Given the description of an element on the screen output the (x, y) to click on. 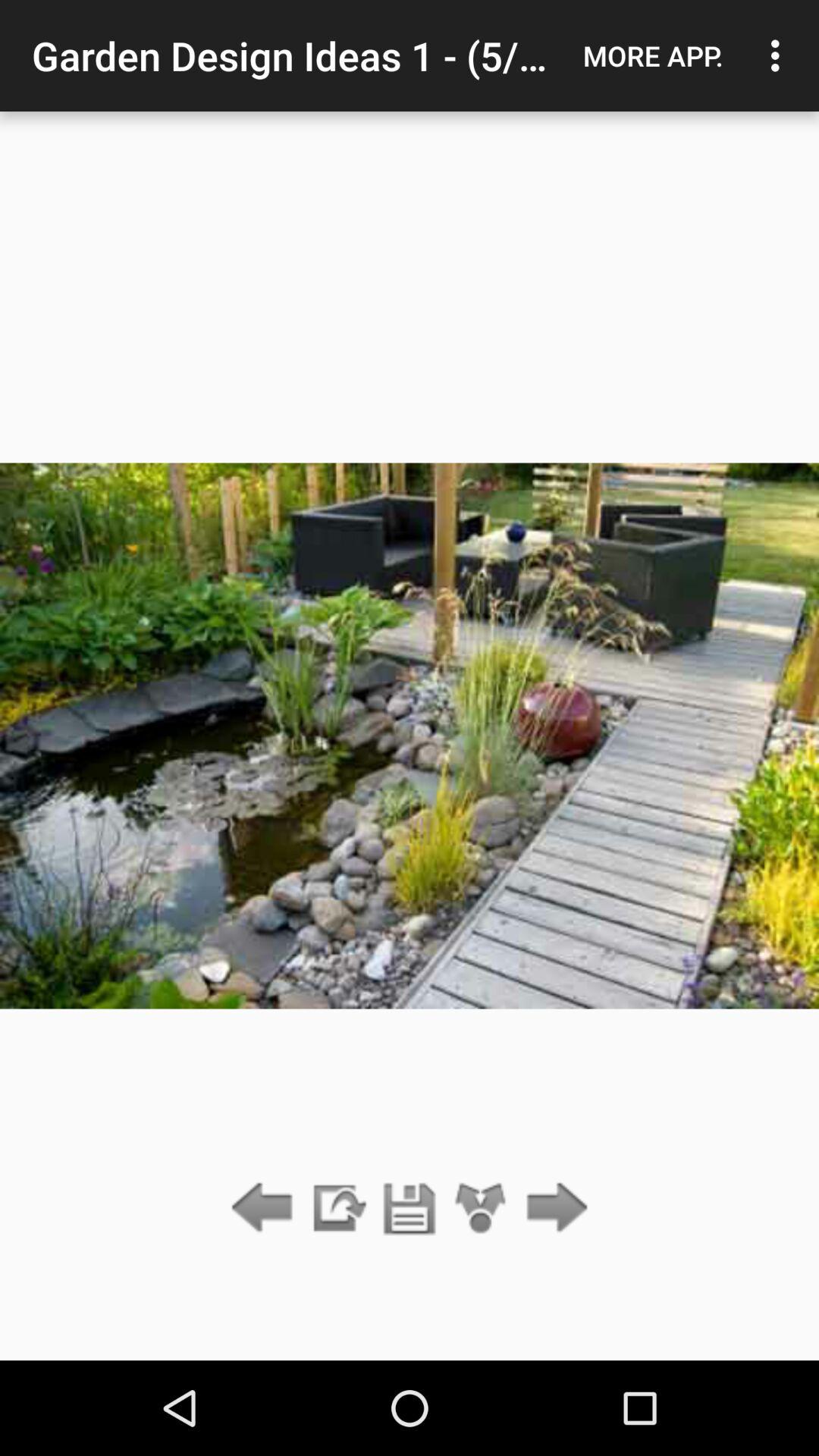
next picture (552, 1209)
